Given the description of an element on the screen output the (x, y) to click on. 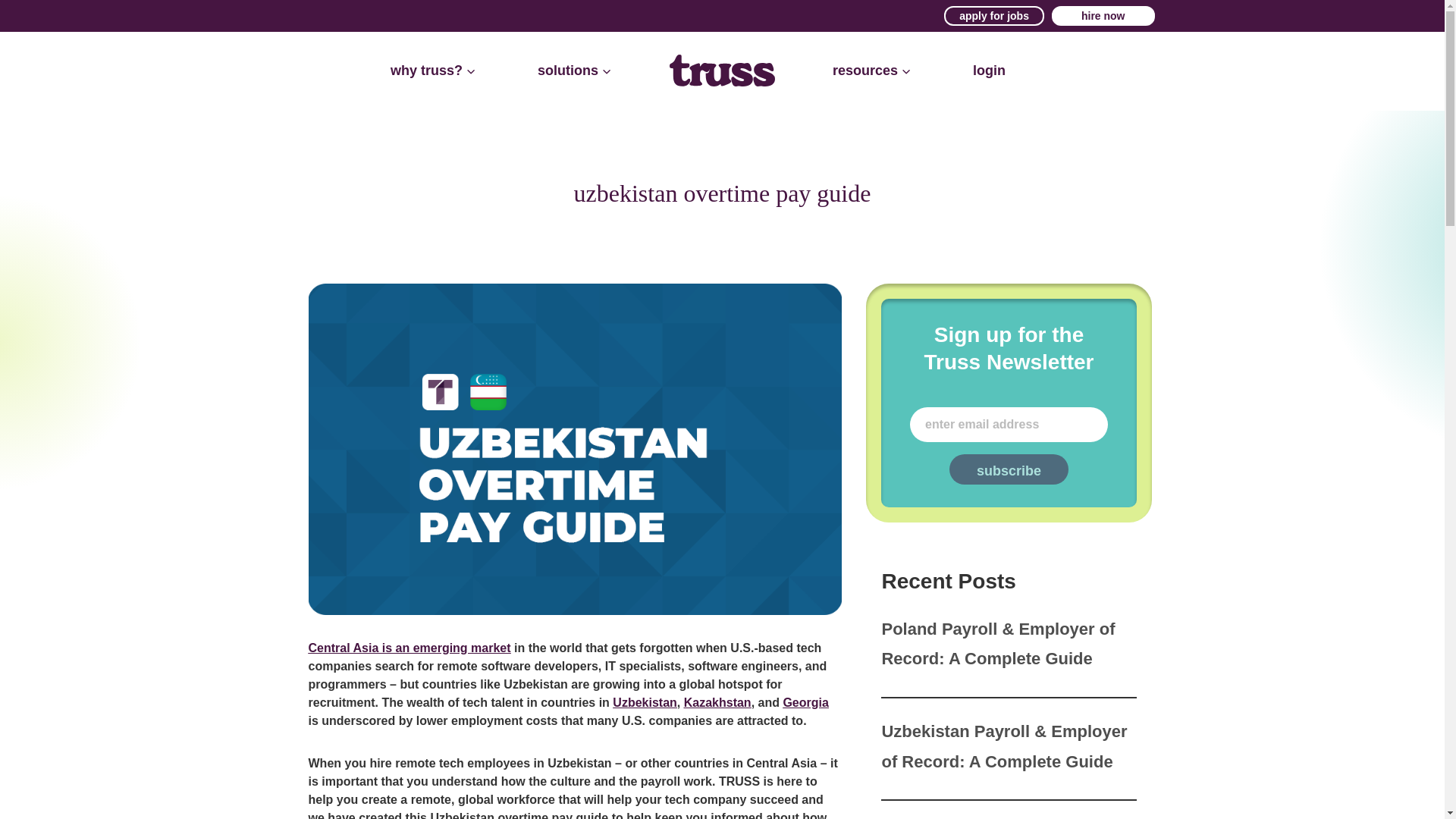
resources (872, 70)
Kazakhstan (717, 702)
subscribe (1008, 469)
hire now (1102, 15)
Uzbekistan (644, 702)
solutions (574, 70)
Central Asia is an emerging market (409, 647)
why truss? (432, 70)
subscribe (1008, 469)
apply for jobs (993, 15)
login (989, 70)
Georgia (805, 702)
